Given the description of an element on the screen output the (x, y) to click on. 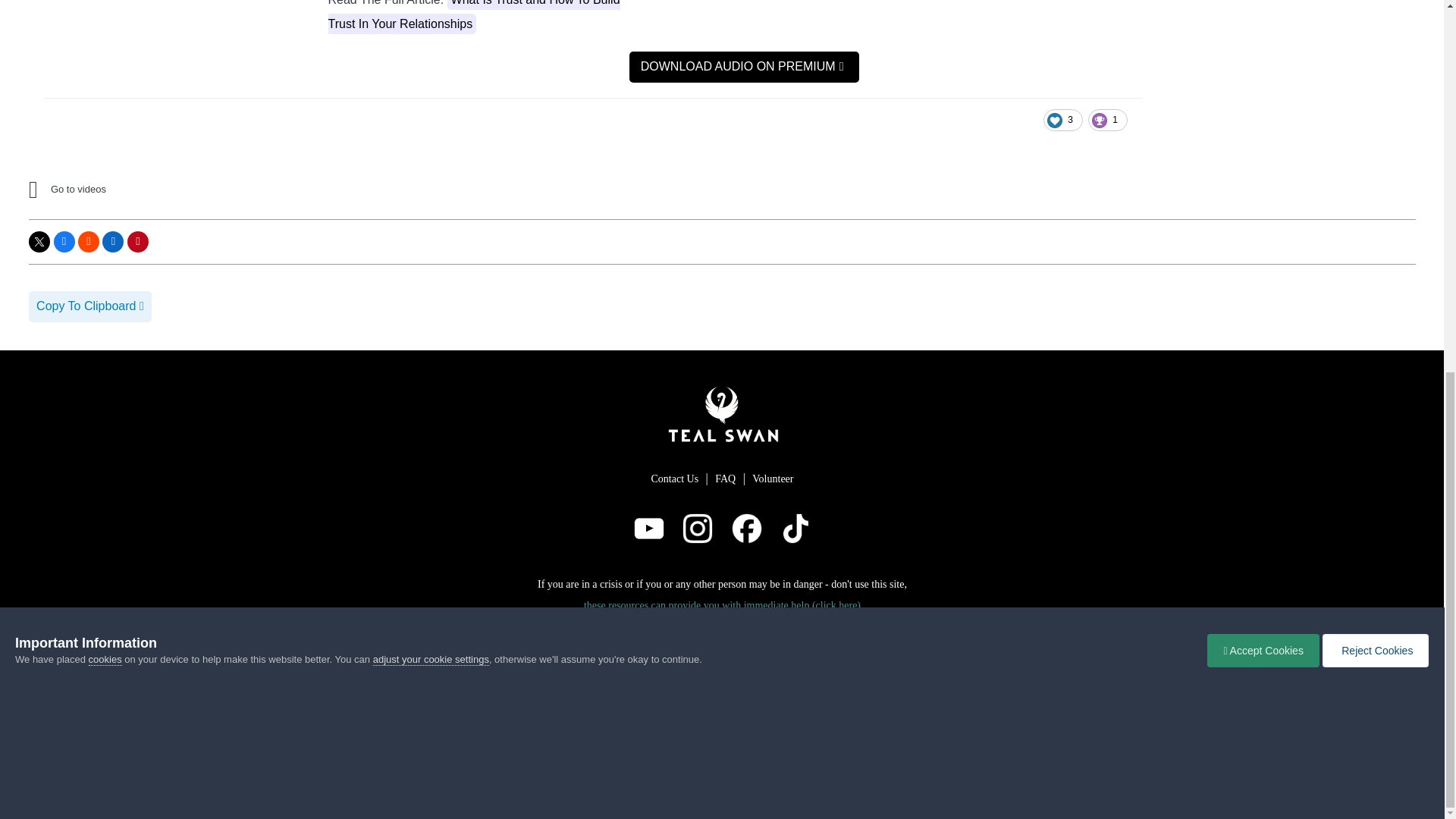
What Is Trust and How To Build Trust In Your Relationships (473, 17)
Like (1063, 119)
Share on LinkedIn (112, 241)
Go to videos (161, 189)
Thanks (1106, 119)
Share on Facebook (64, 241)
Share on Pinterest (138, 241)
Share on X (39, 241)
Share on Reddit (88, 241)
Invision Community (722, 675)
DOWNLOAD AUDIO ON PREMIUM (743, 66)
